Given the description of an element on the screen output the (x, y) to click on. 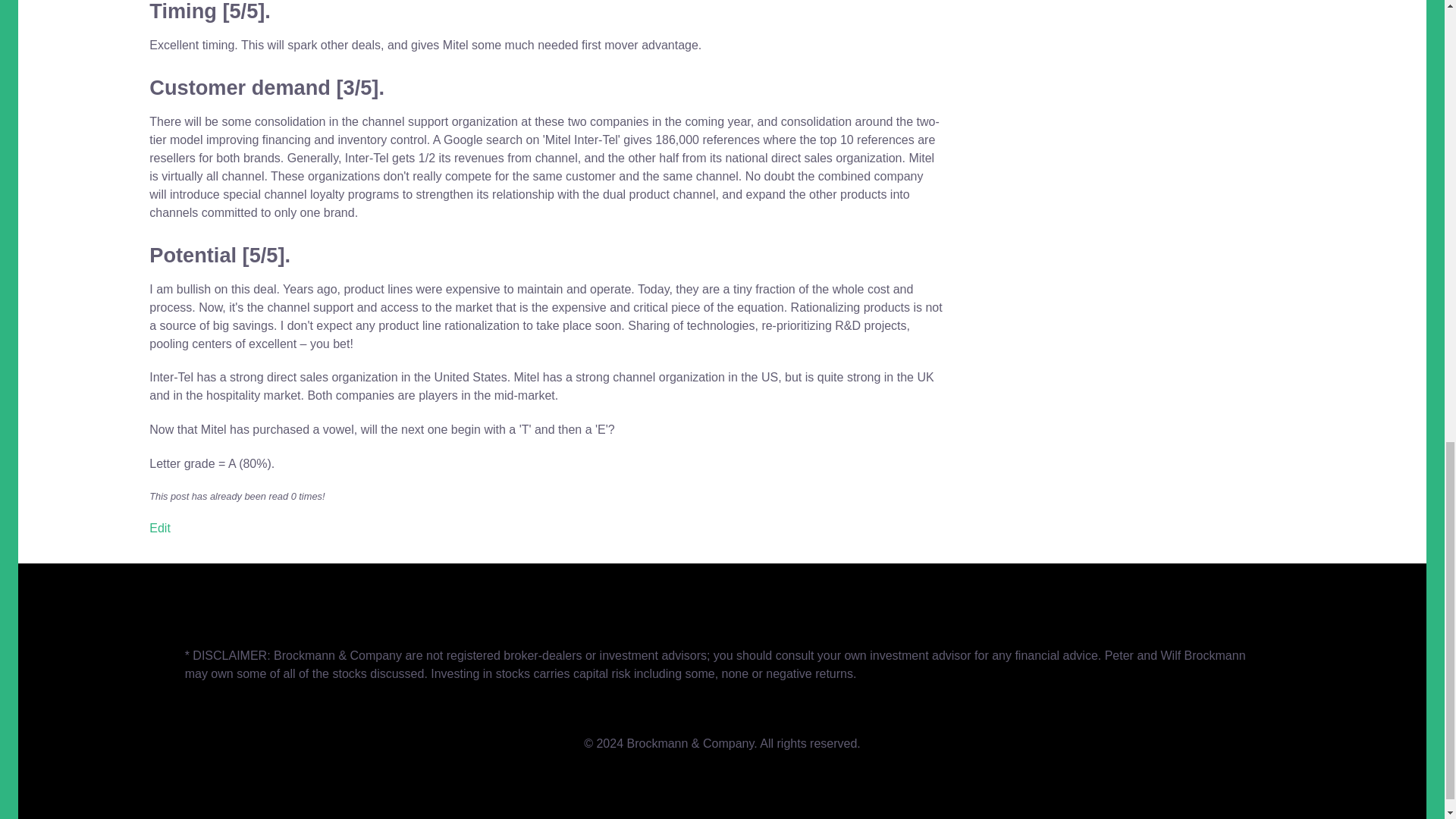
Edit (159, 527)
